Given the description of an element on the screen output the (x, y) to click on. 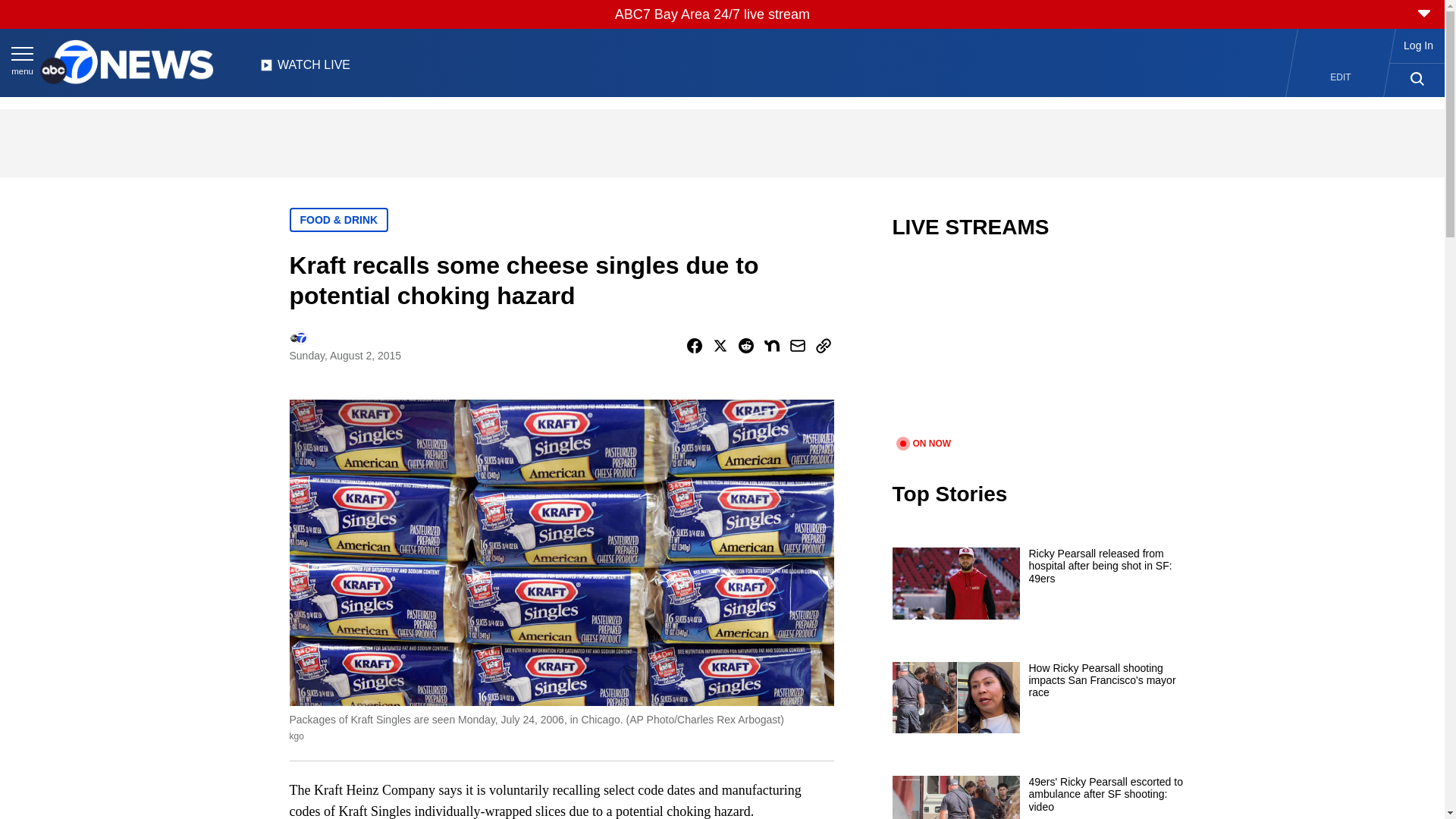
WATCH LIVE (305, 69)
video.title (1043, 347)
EDIT (1340, 77)
